Given the description of an element on the screen output the (x, y) to click on. 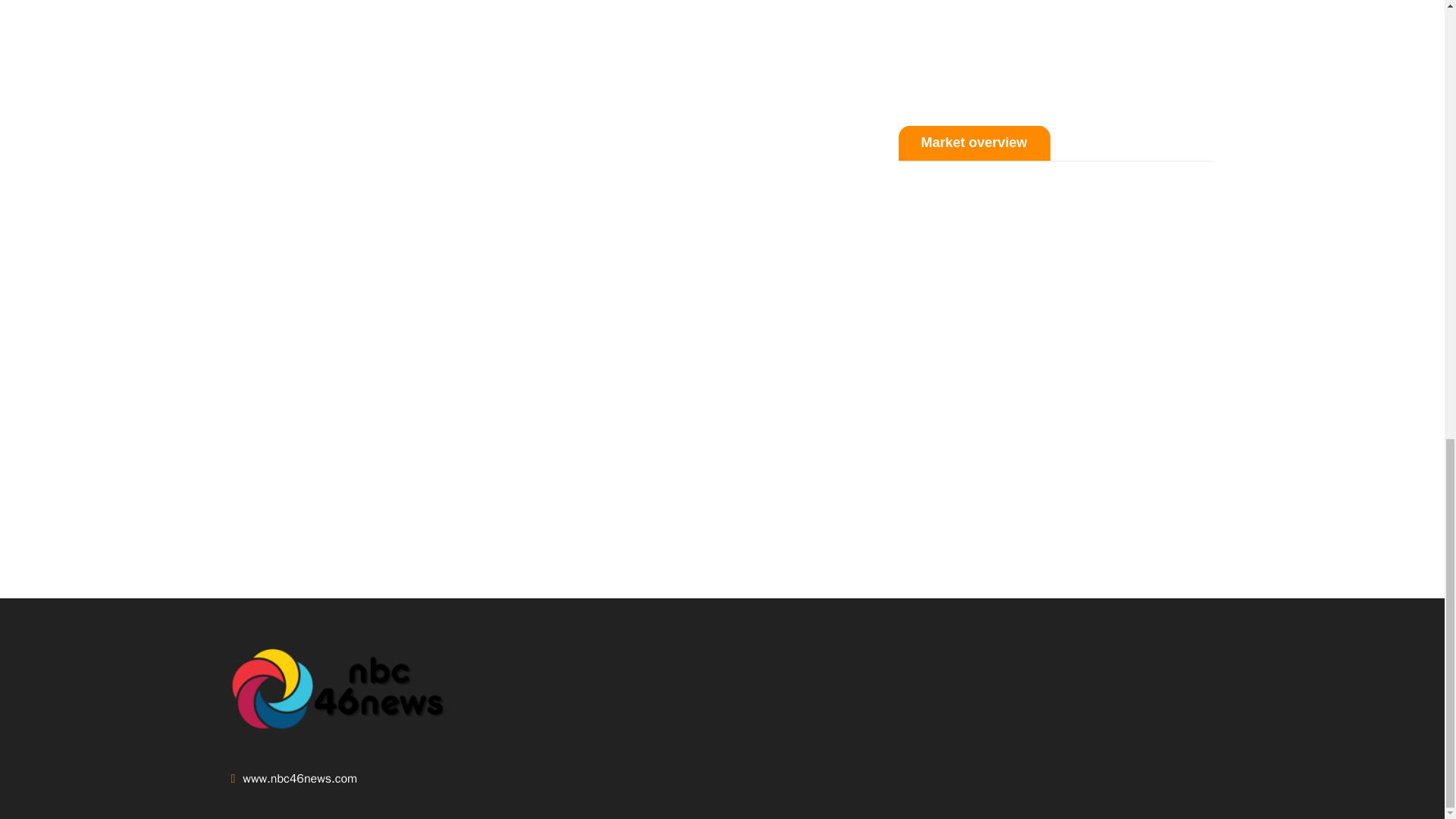
www.nbc46news.com (346, 778)
market overview TradingView widget (1055, 354)
events TradingView widget (1055, 47)
